Given the description of an element on the screen output the (x, y) to click on. 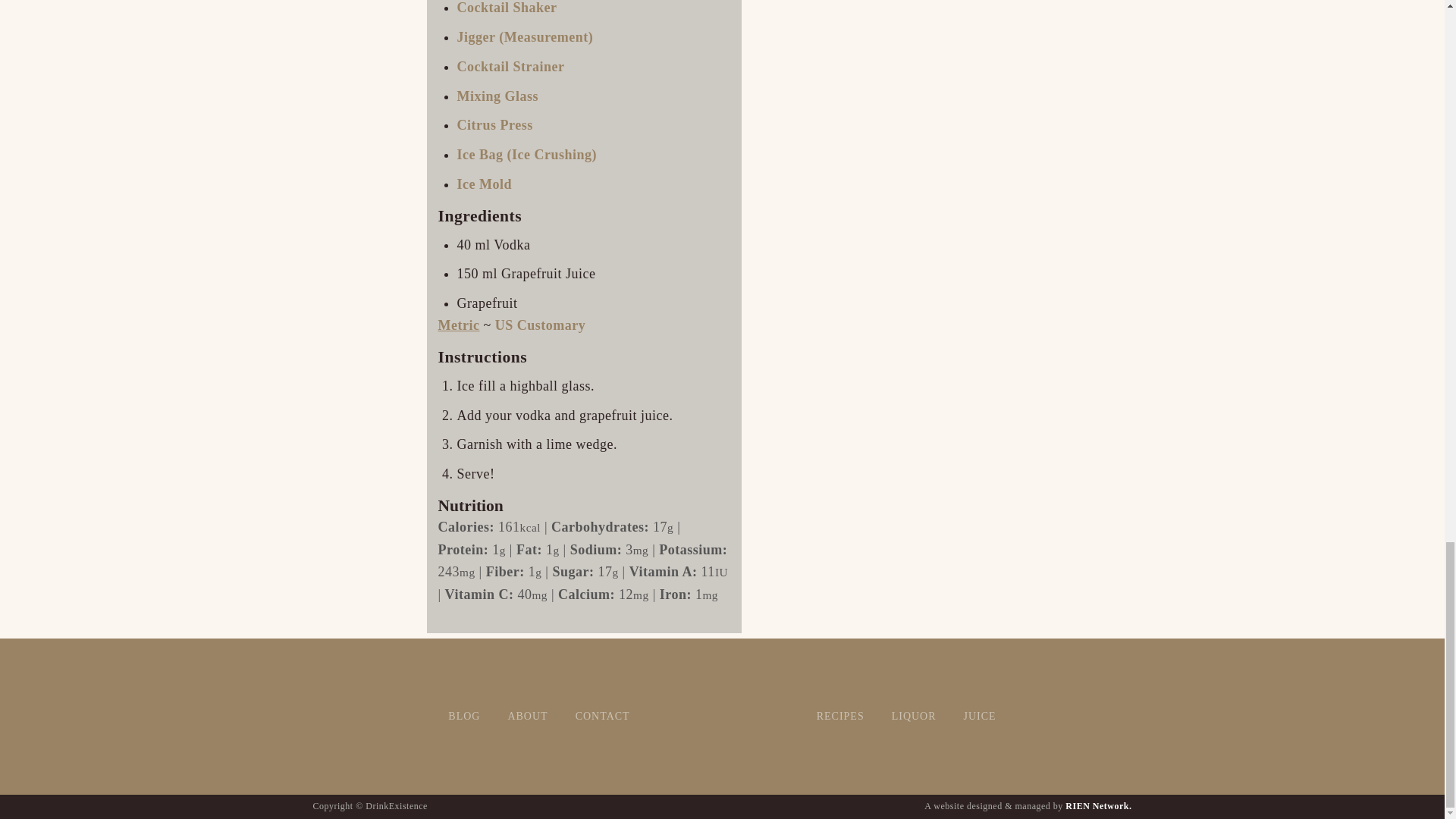
JUICE (980, 715)
LIQUOR (913, 715)
Mixing Glass (497, 96)
BLOG (463, 715)
Metric (459, 324)
RECIPES (840, 715)
RIEN Network. (1098, 805)
Cocktail Shaker (506, 7)
CONTACT (602, 715)
ABOUT (526, 715)
